Given the description of an element on the screen output the (x, y) to click on. 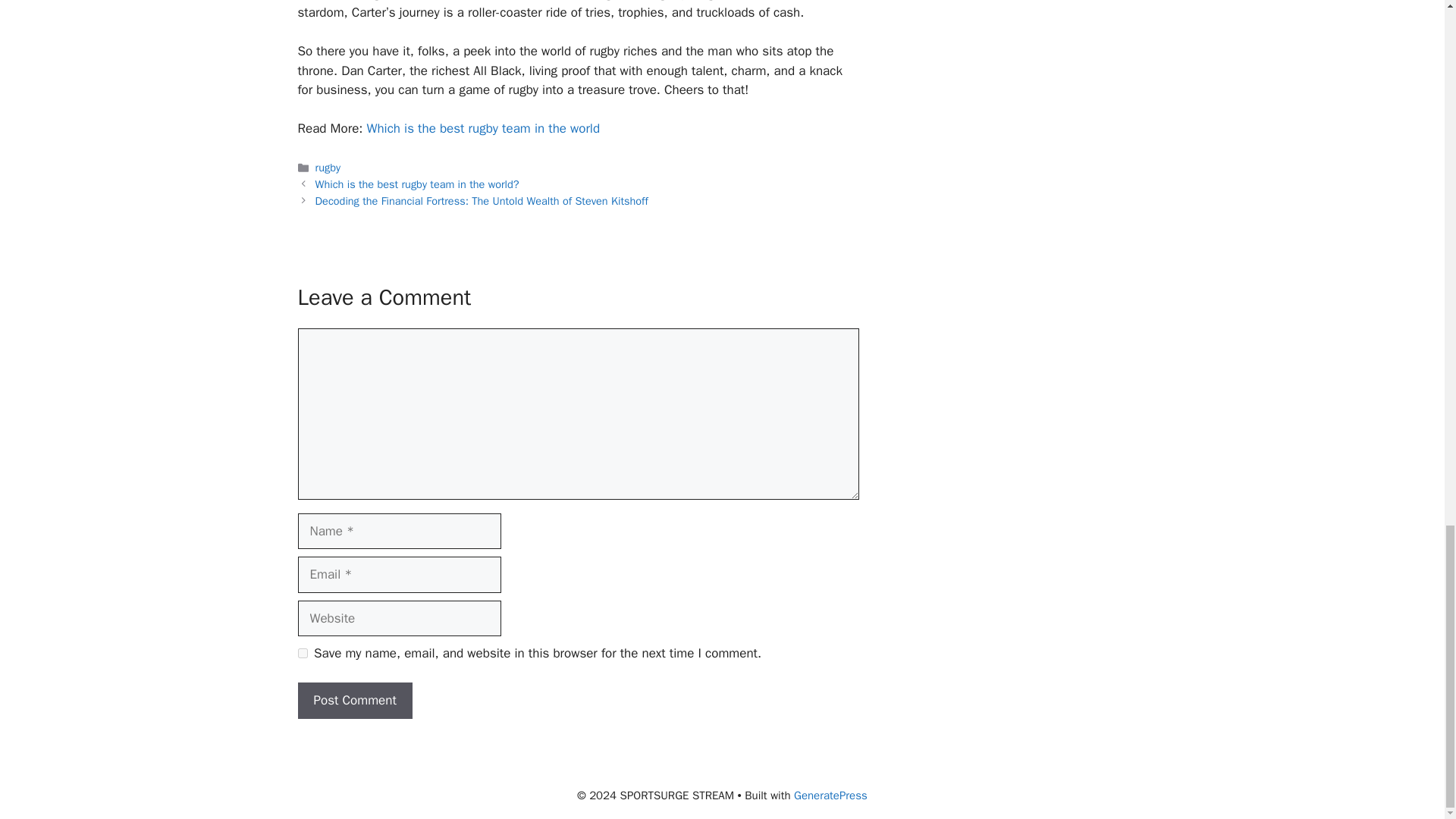
Which is the best rugby team in the world (482, 128)
rugby (327, 167)
Post Comment (354, 700)
GeneratePress (830, 795)
yes (302, 653)
Post Comment (354, 700)
Which is the best rugby team in the world? (417, 183)
